Given the description of an element on the screen output the (x, y) to click on. 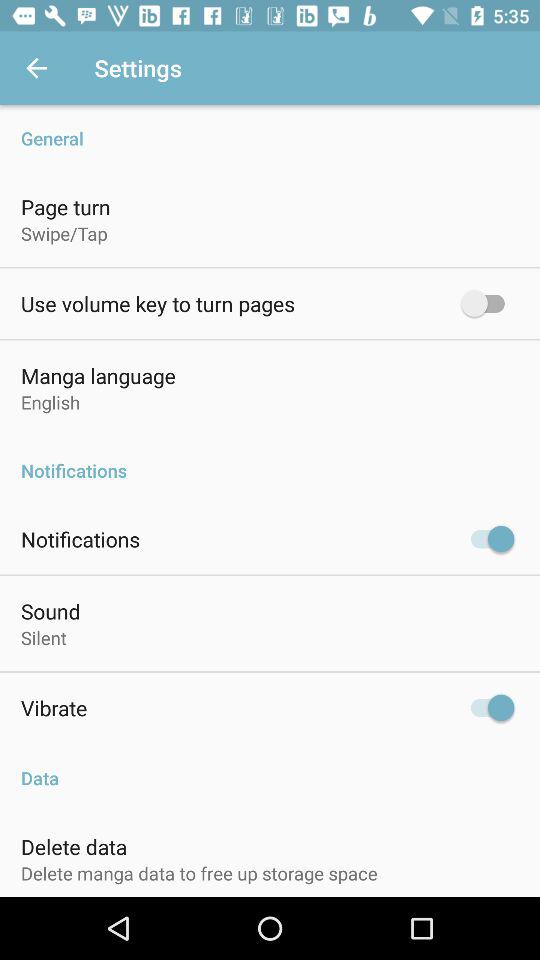
click the item above the general (36, 68)
